Given the description of an element on the screen output the (x, y) to click on. 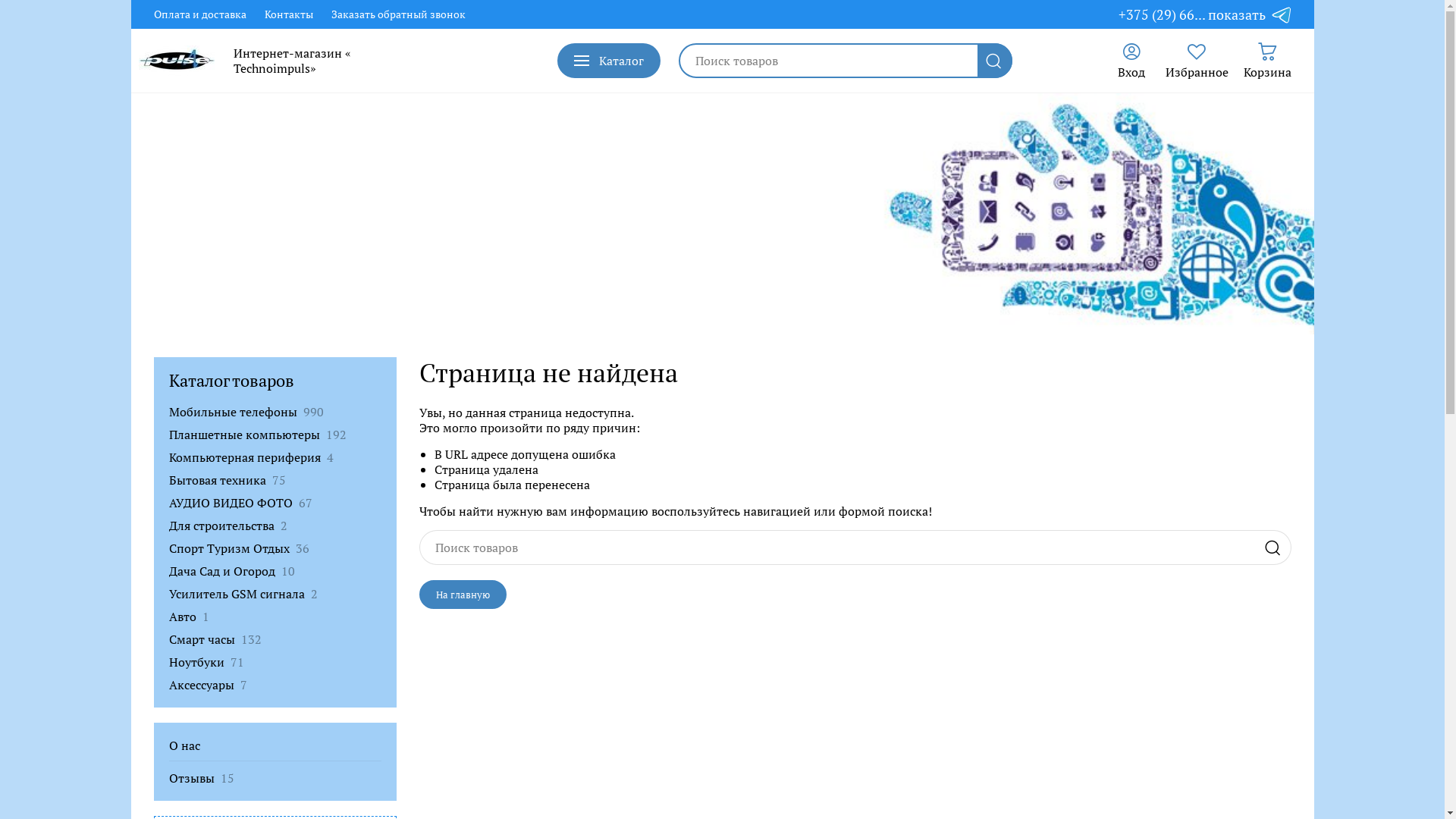
Telegram Element type: hover (1281, 14)
